Given the description of an element on the screen output the (x, y) to click on. 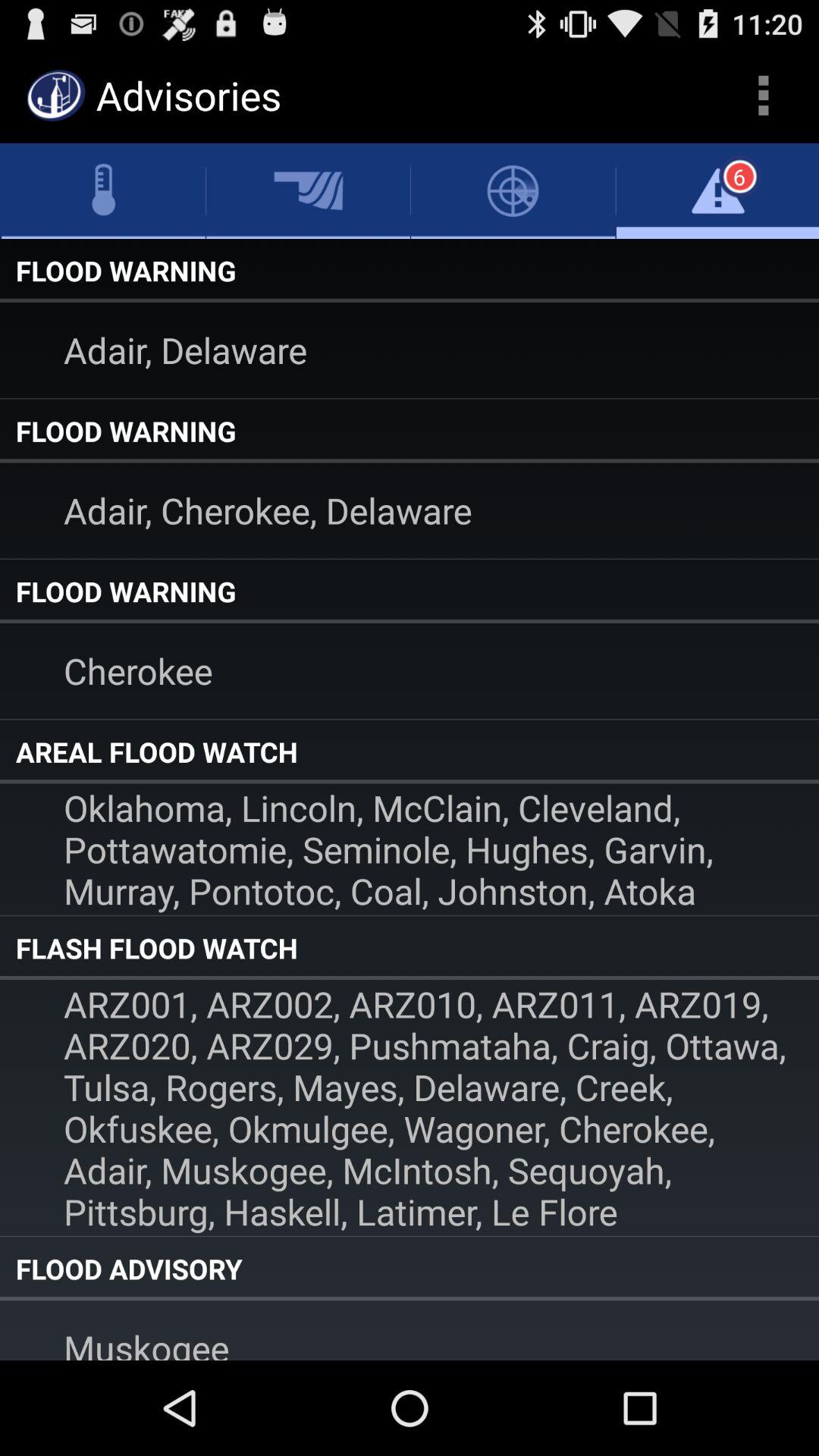
tap the oklahoma lincoln mcclain item (409, 849)
